Given the description of an element on the screen output the (x, y) to click on. 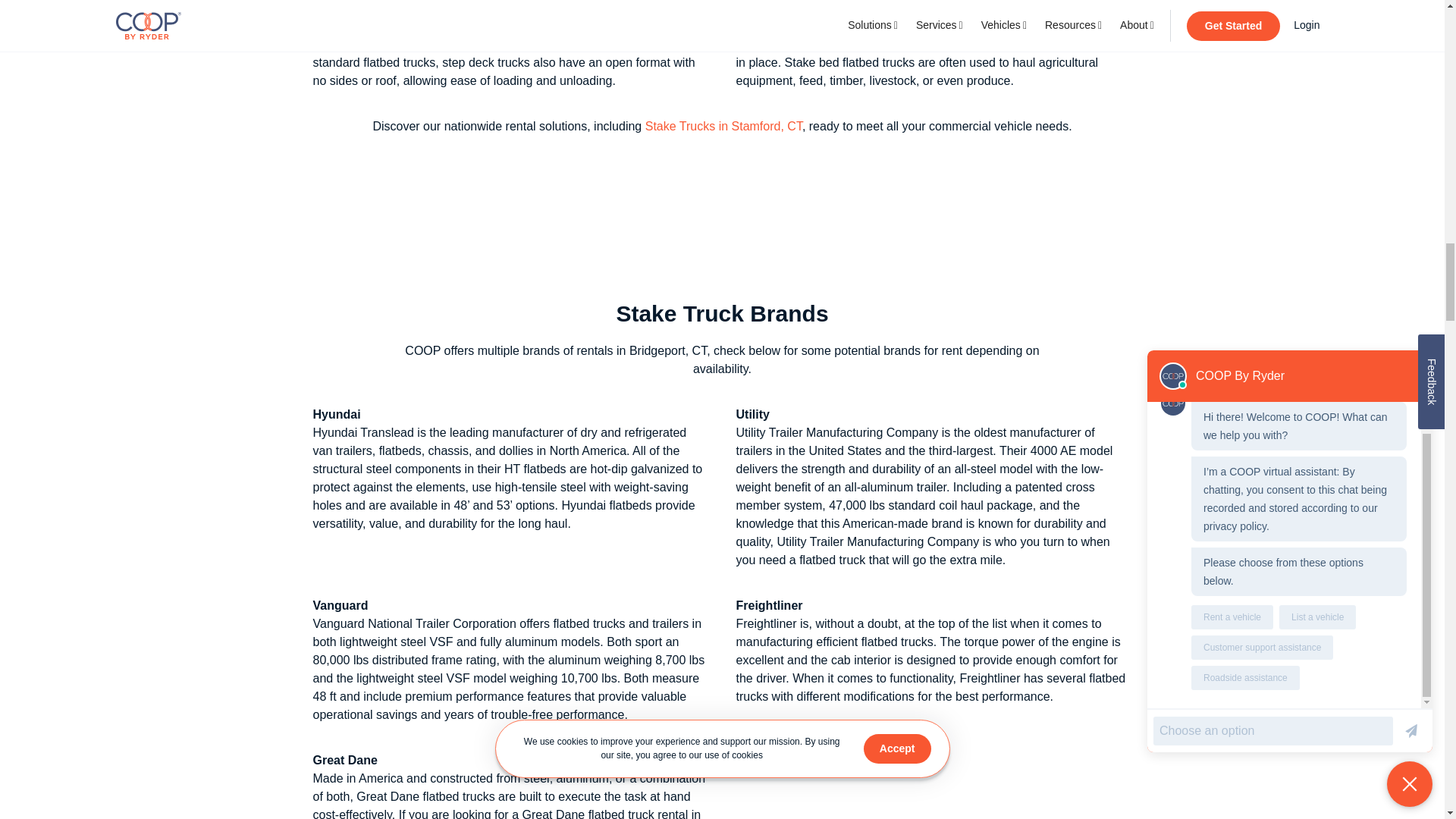
Stake Trucks in Stamford, CT (723, 125)
